Given the description of an element on the screen output the (x, y) to click on. 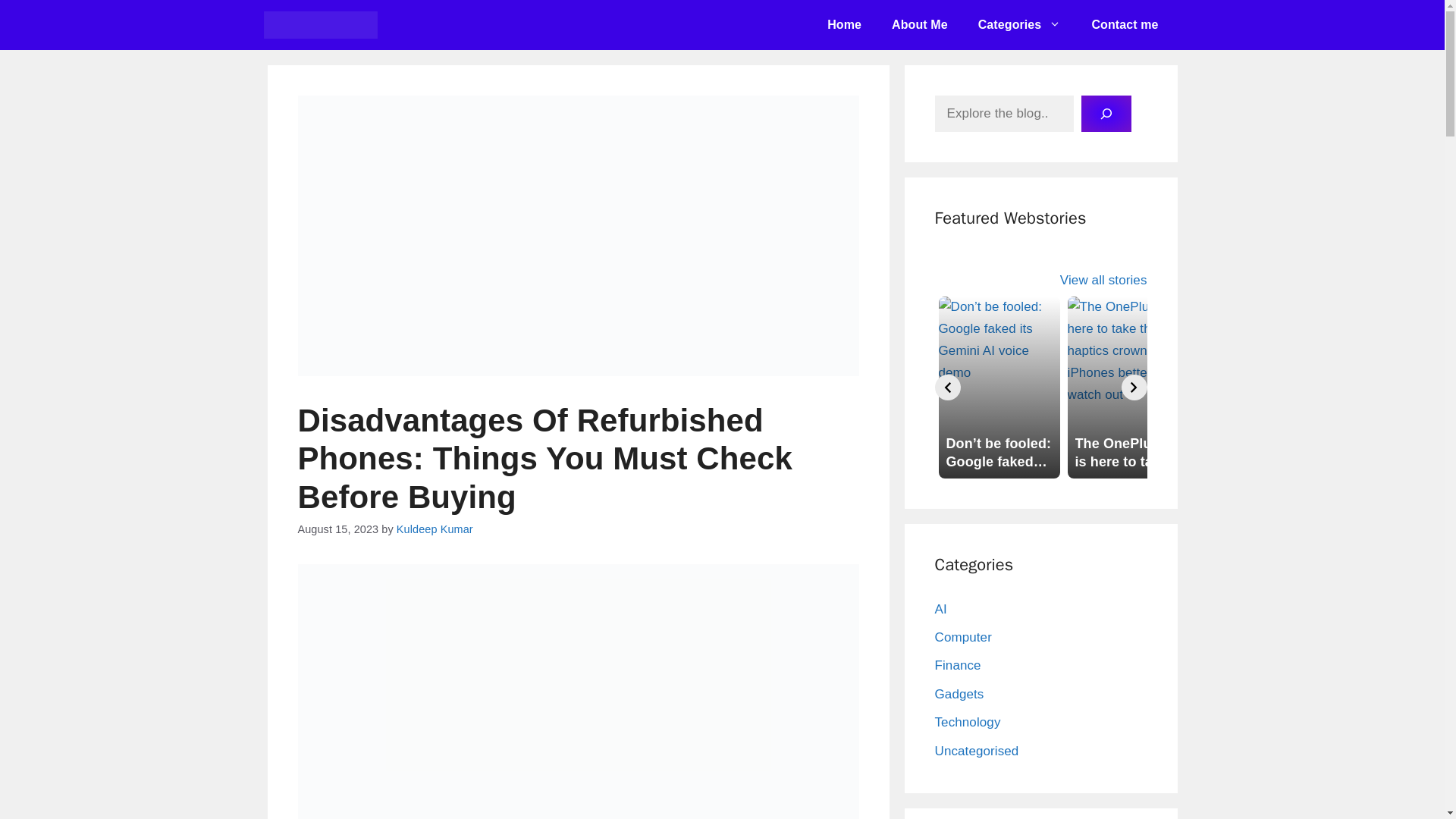
Kuldeep Kumar (434, 529)
About Me (919, 24)
Contact me (1124, 24)
Home (844, 24)
Categories (1019, 24)
View all posts by Kuldeep Kumar (434, 529)
